Given the description of an element on the screen output the (x, y) to click on. 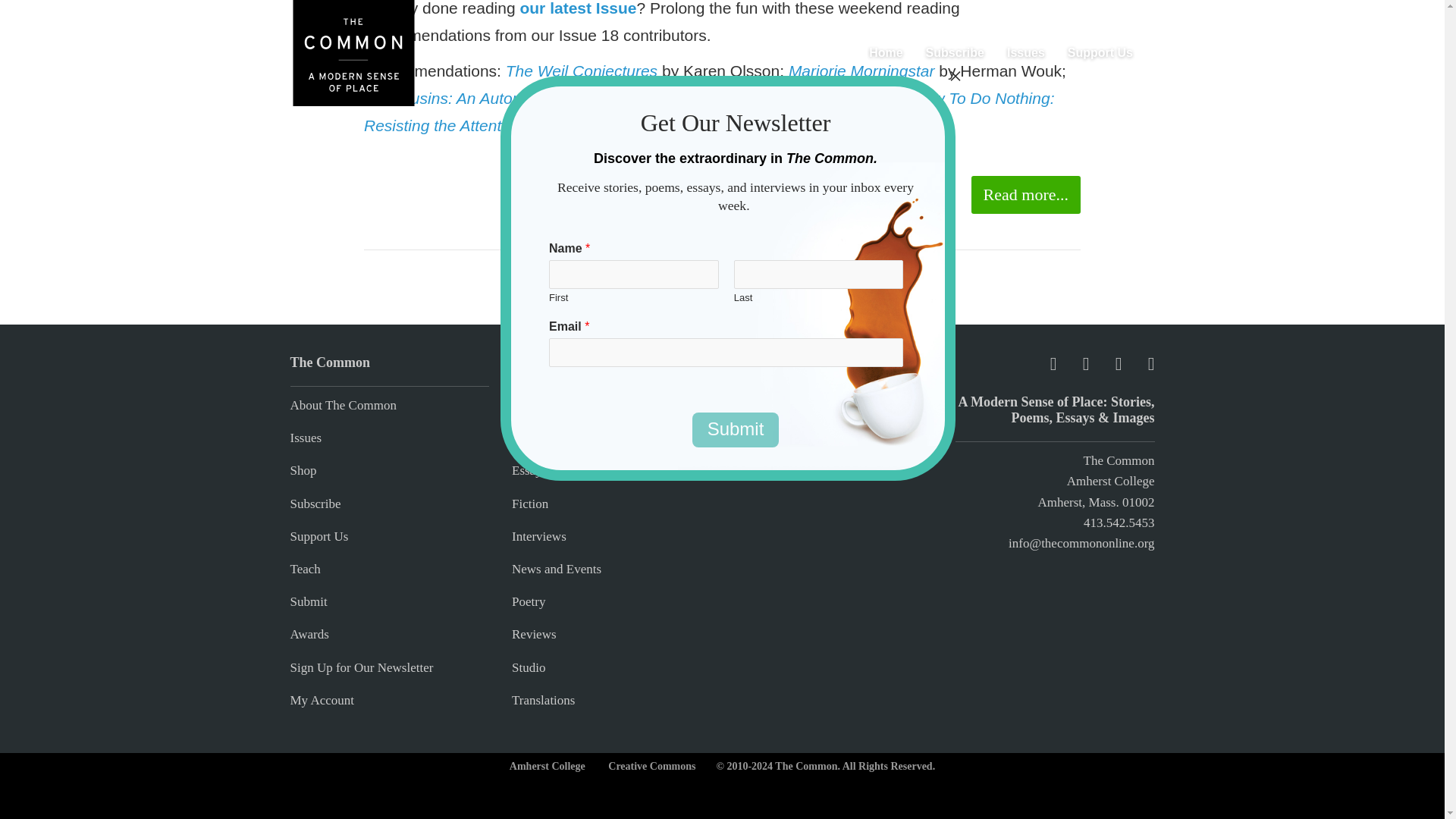
our latest Issue (577, 8)
